Given the description of an element on the screen output the (x, y) to click on. 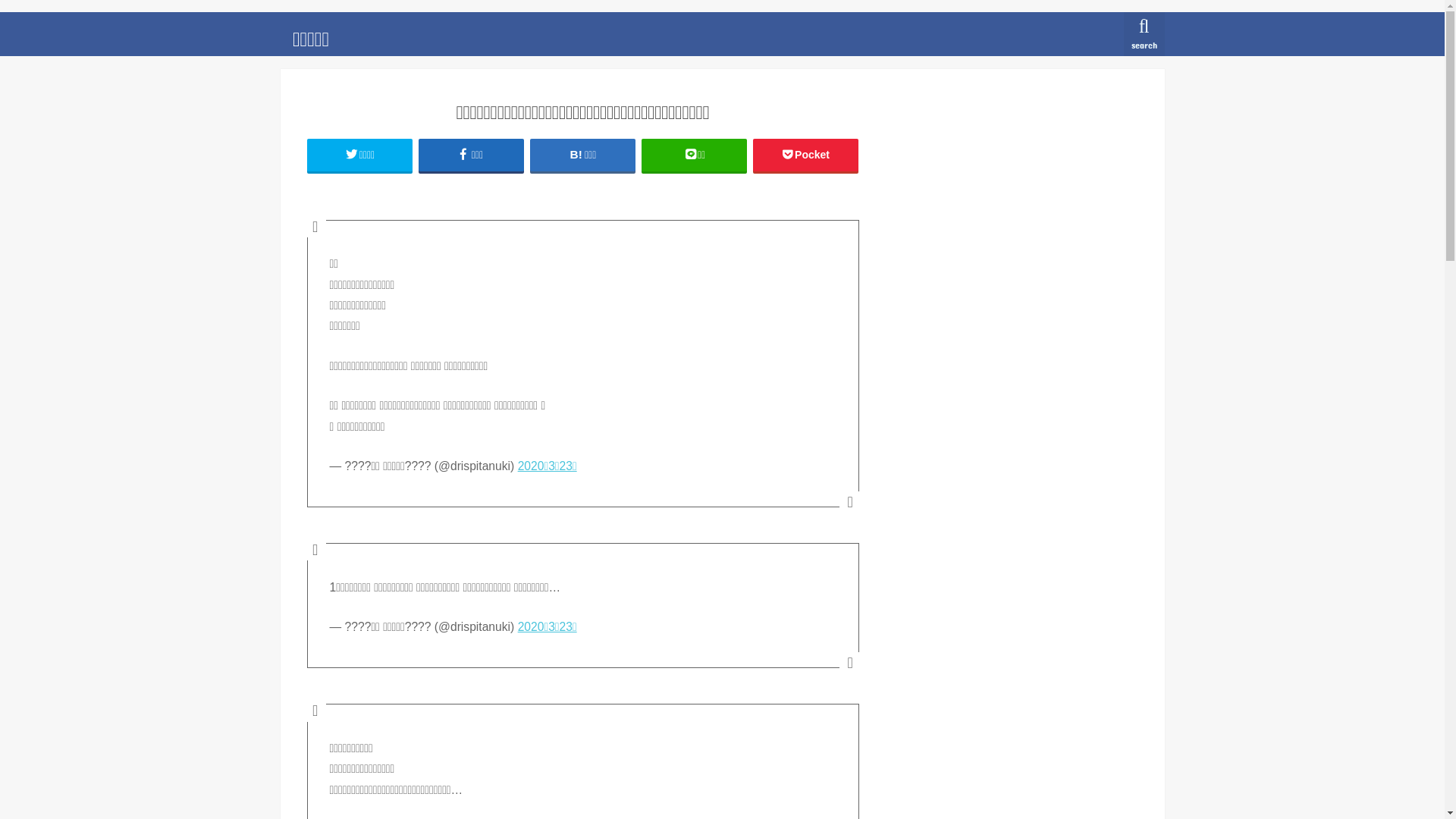
search Element type: text (1143, 34)
Pocket Element type: text (806, 154)
